Given the description of an element on the screen output the (x, y) to click on. 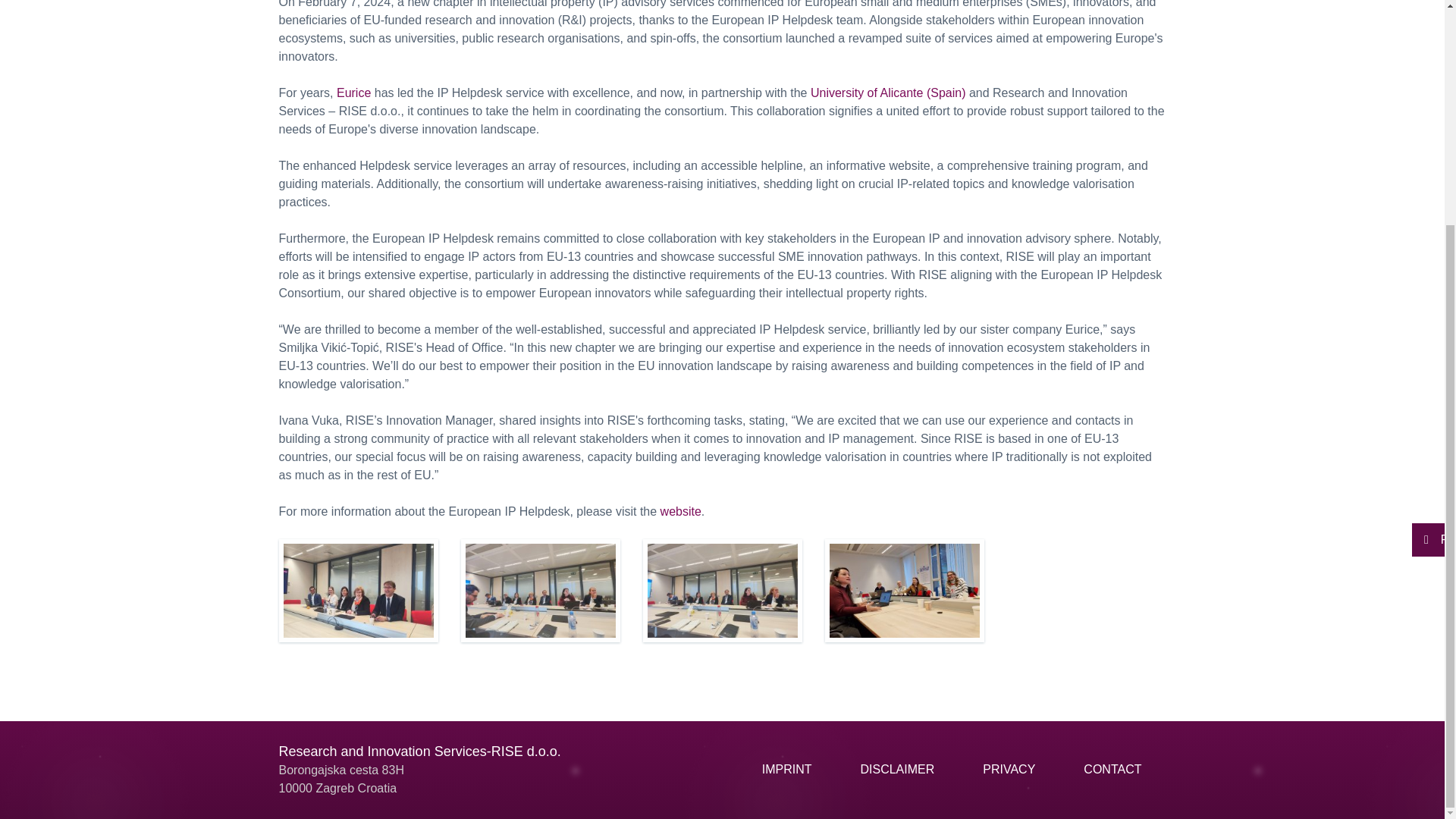
IMPRINT (786, 768)
DISCLAIMER (896, 768)
Eurice (353, 92)
CONTACT (1112, 768)
website (681, 511)
PRIVACY (1008, 768)
